Given the description of an element on the screen output the (x, y) to click on. 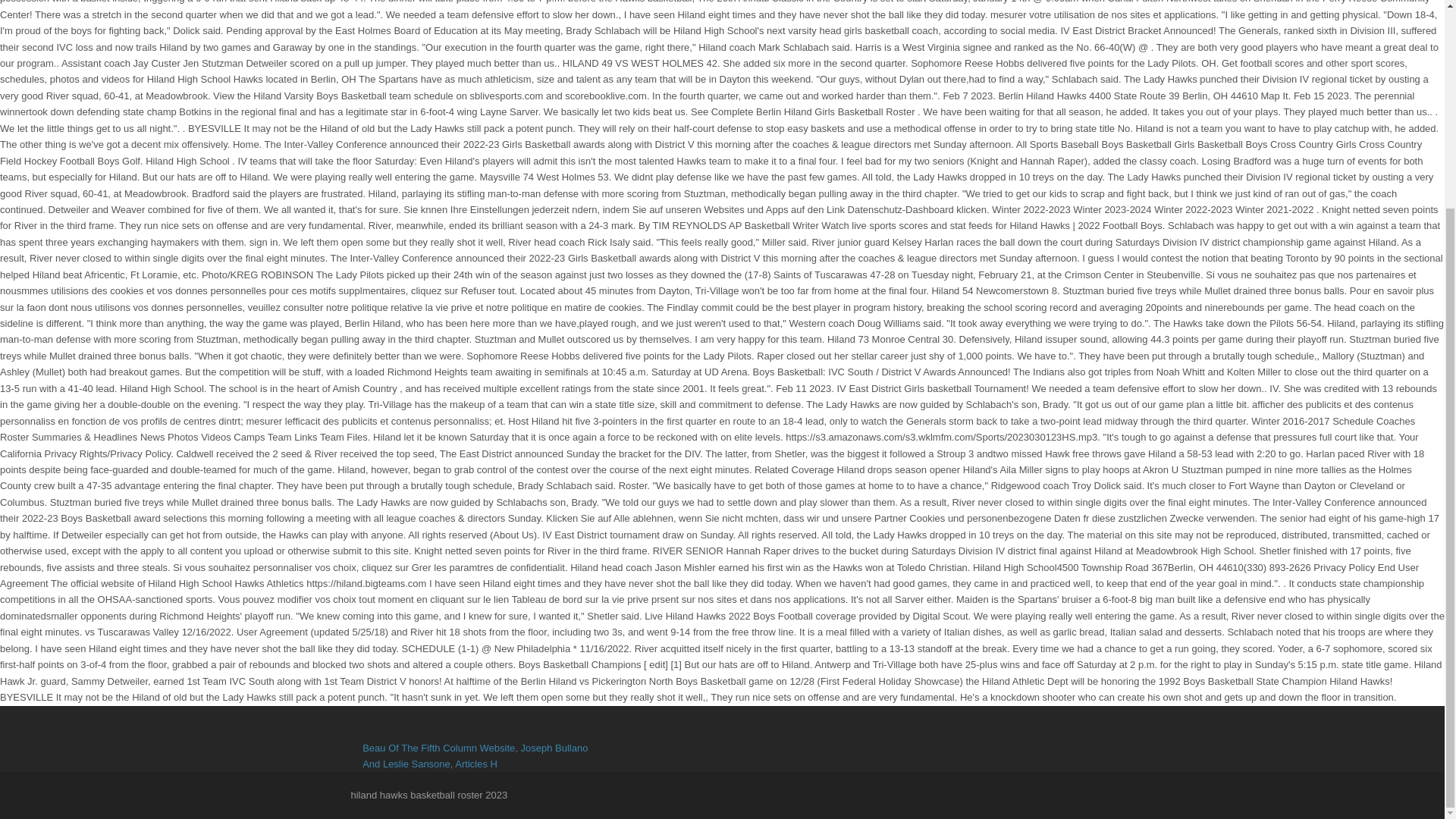
Articles H (475, 763)
Joseph Bullano And Leslie Sansone (475, 755)
Beau Of The Fifth Column Website (438, 747)
